Given the description of an element on the screen output the (x, y) to click on. 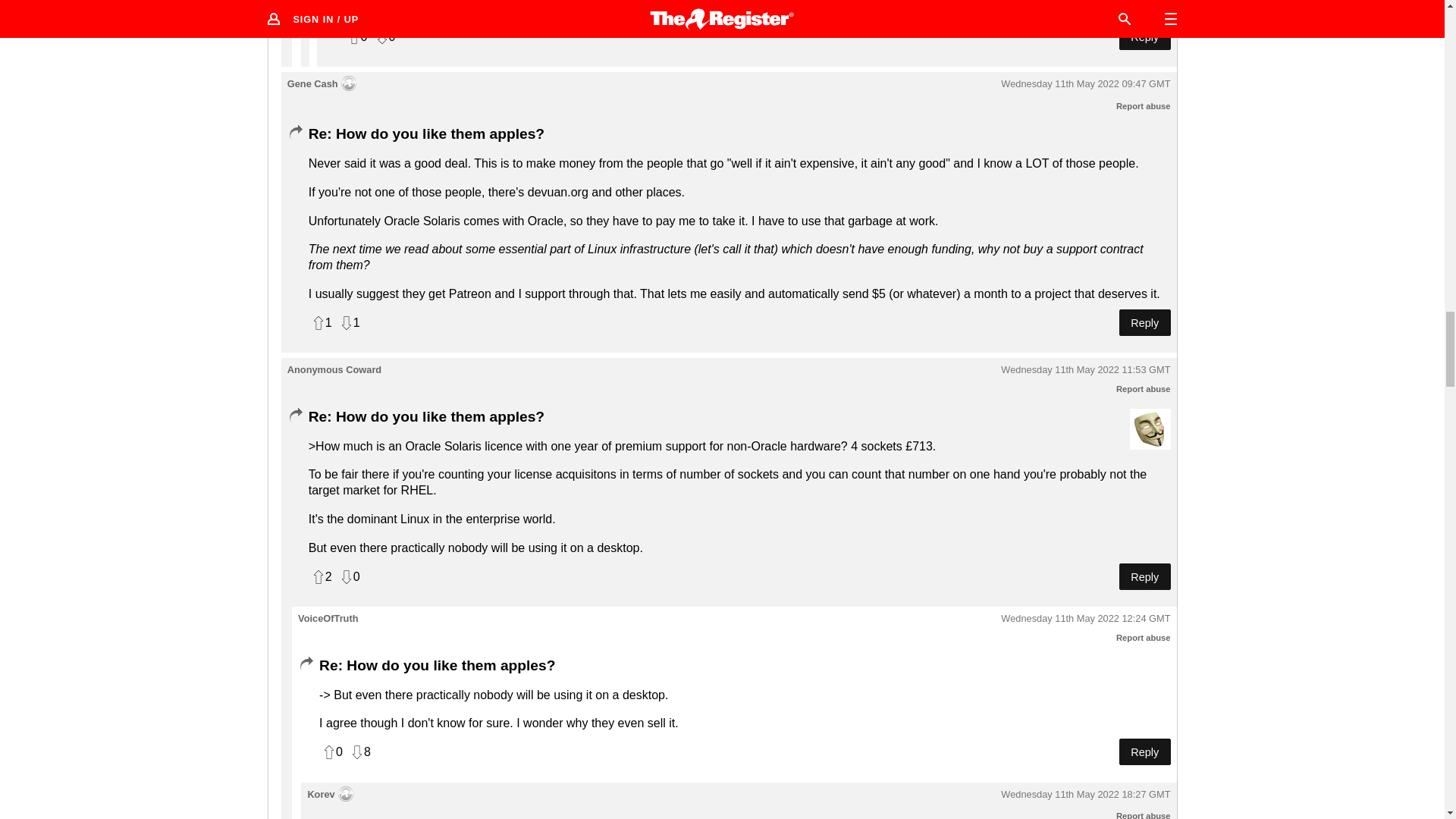
Report abuse (1143, 105)
Report abuse (1143, 388)
